Given the description of an element on the screen output the (x, y) to click on. 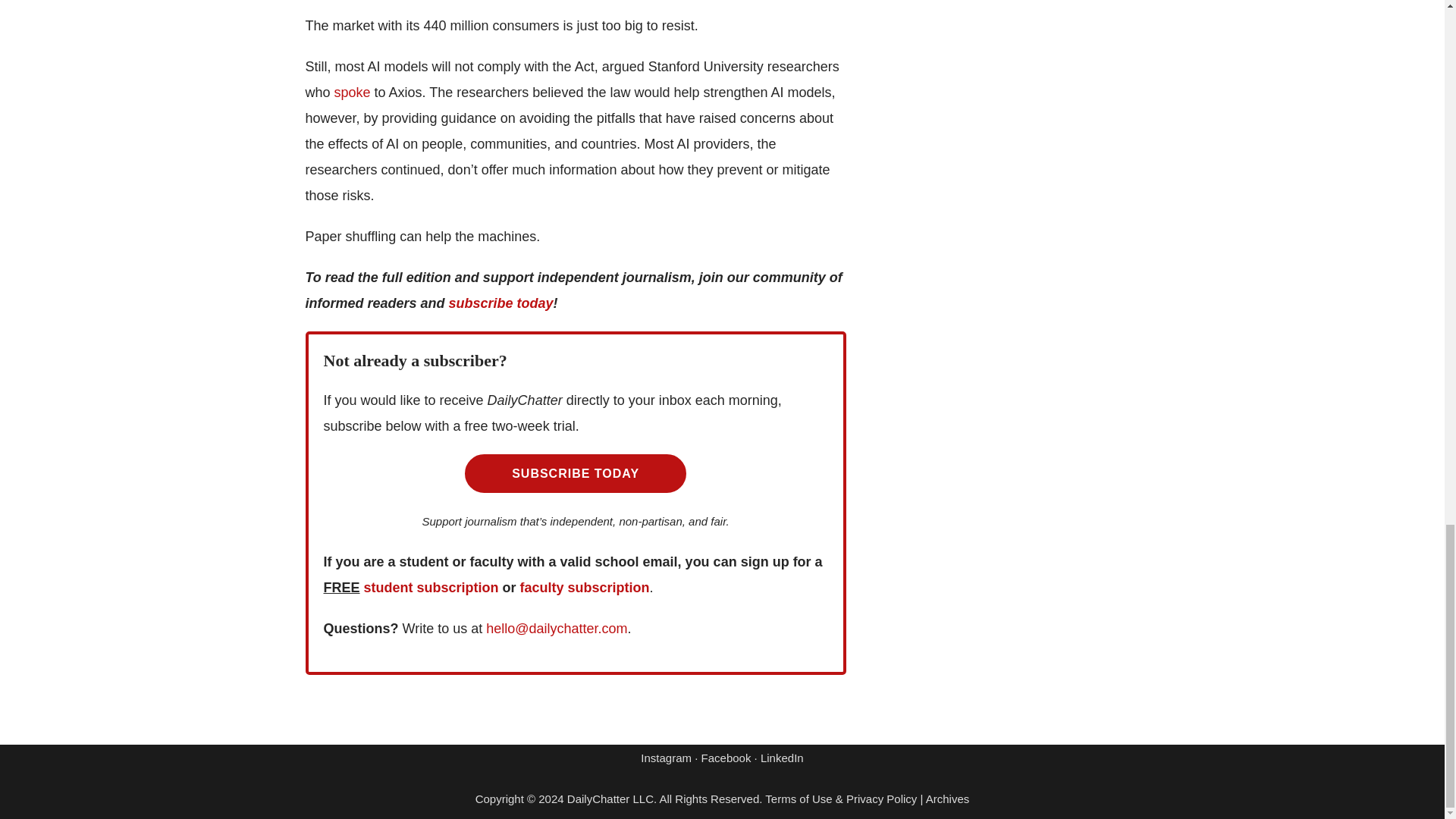
go to Facebook (726, 757)
go to Instagram (665, 757)
go to LinkedIn (781, 757)
